Given the description of an element on the screen output the (x, y) to click on. 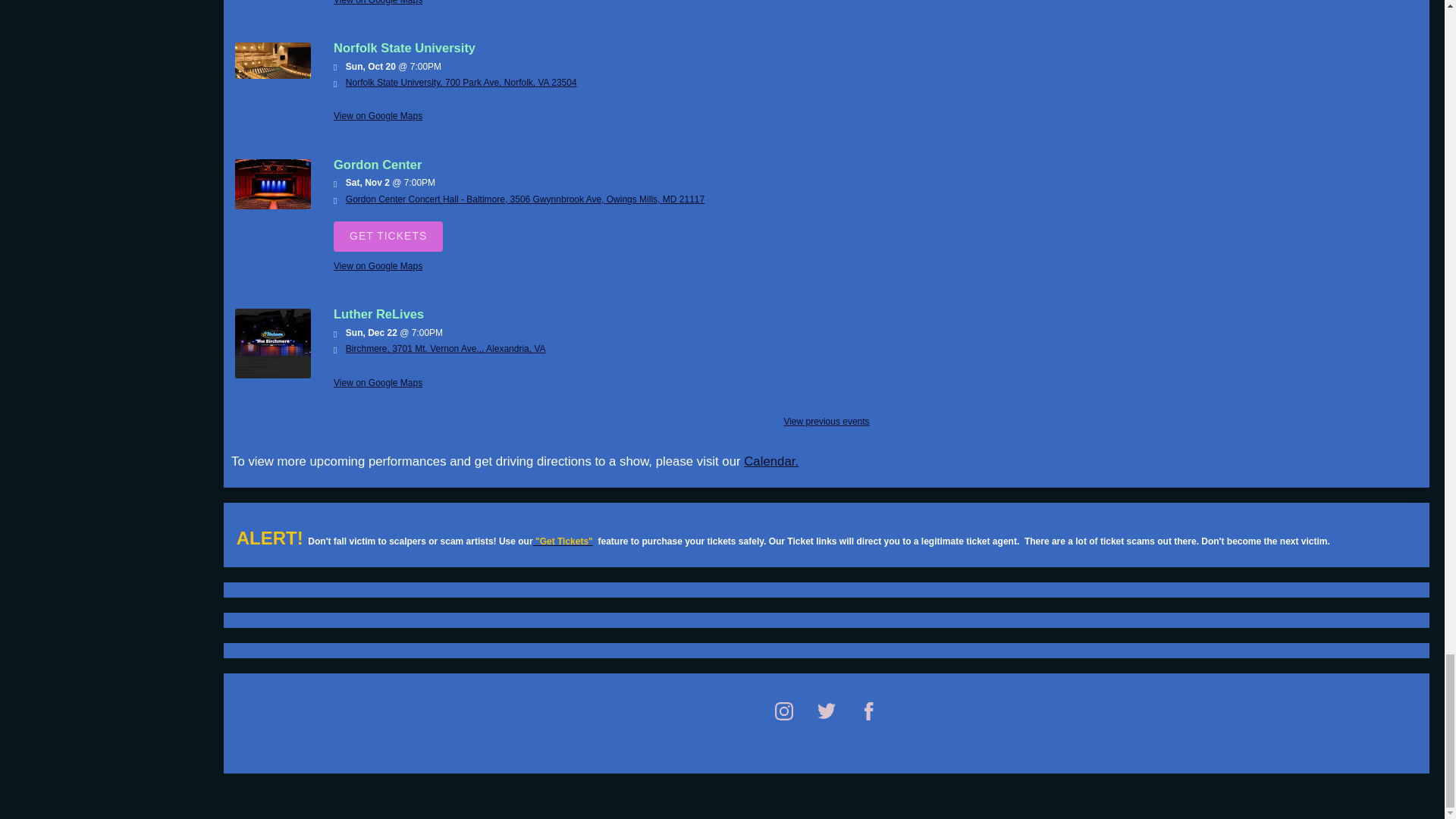
View on Google Maps (446, 348)
GET TICKETS (387, 236)
View on Google Maps (525, 199)
Norfolk State University, 700 Park Ave, Norfolk, VA 23504 (461, 81)
View on Google Maps (377, 115)
Norfolk State University (272, 75)
View on Google Maps (461, 81)
Luther ReLives (272, 375)
Gordon Center (272, 205)
View on Google Maps (377, 2)
View on Google Maps (377, 266)
